Given the description of an element on the screen output the (x, y) to click on. 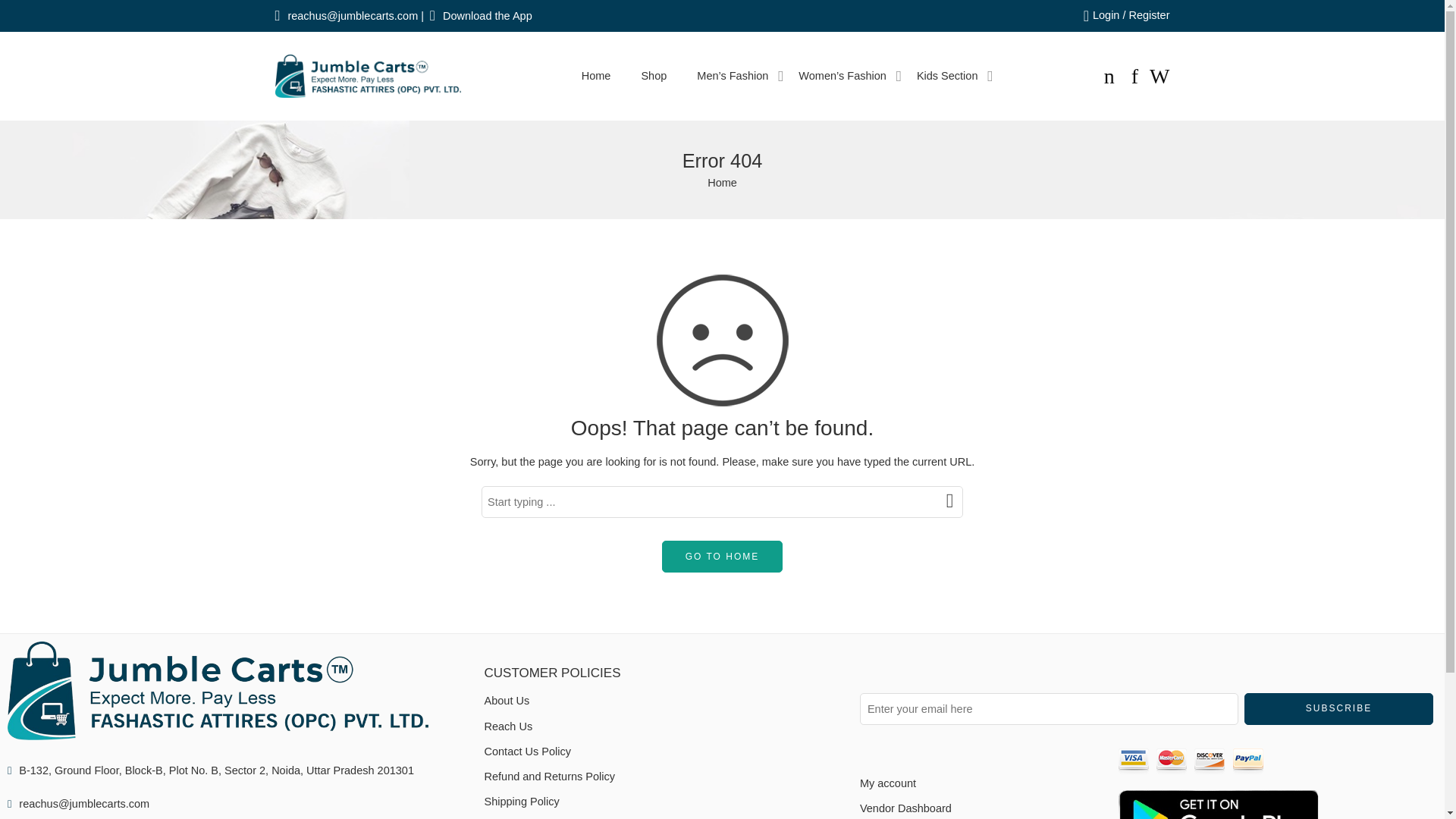
Search (1159, 76)
Download the App (487, 15)
Cart (1109, 76)
Jumble Carts - Expect More. Pay Less. (367, 75)
SUBSCRIBE (1339, 708)
